Given the description of an element on the screen output the (x, y) to click on. 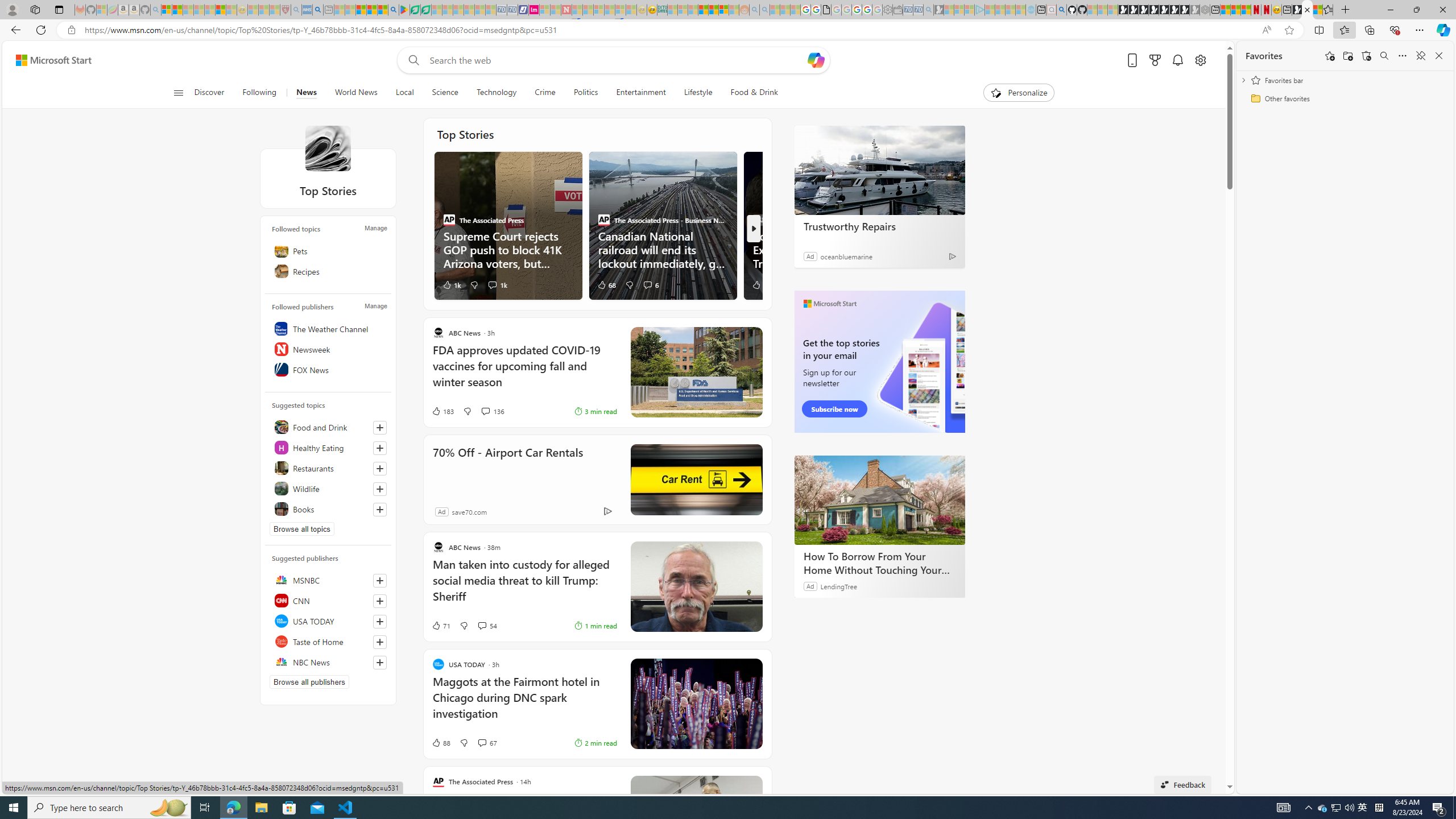
Close favorites (1439, 55)
Canada Railroads Unions (662, 225)
Healthy Eating (327, 447)
Wildlife (327, 488)
